Given the description of an element on the screen output the (x, y) to click on. 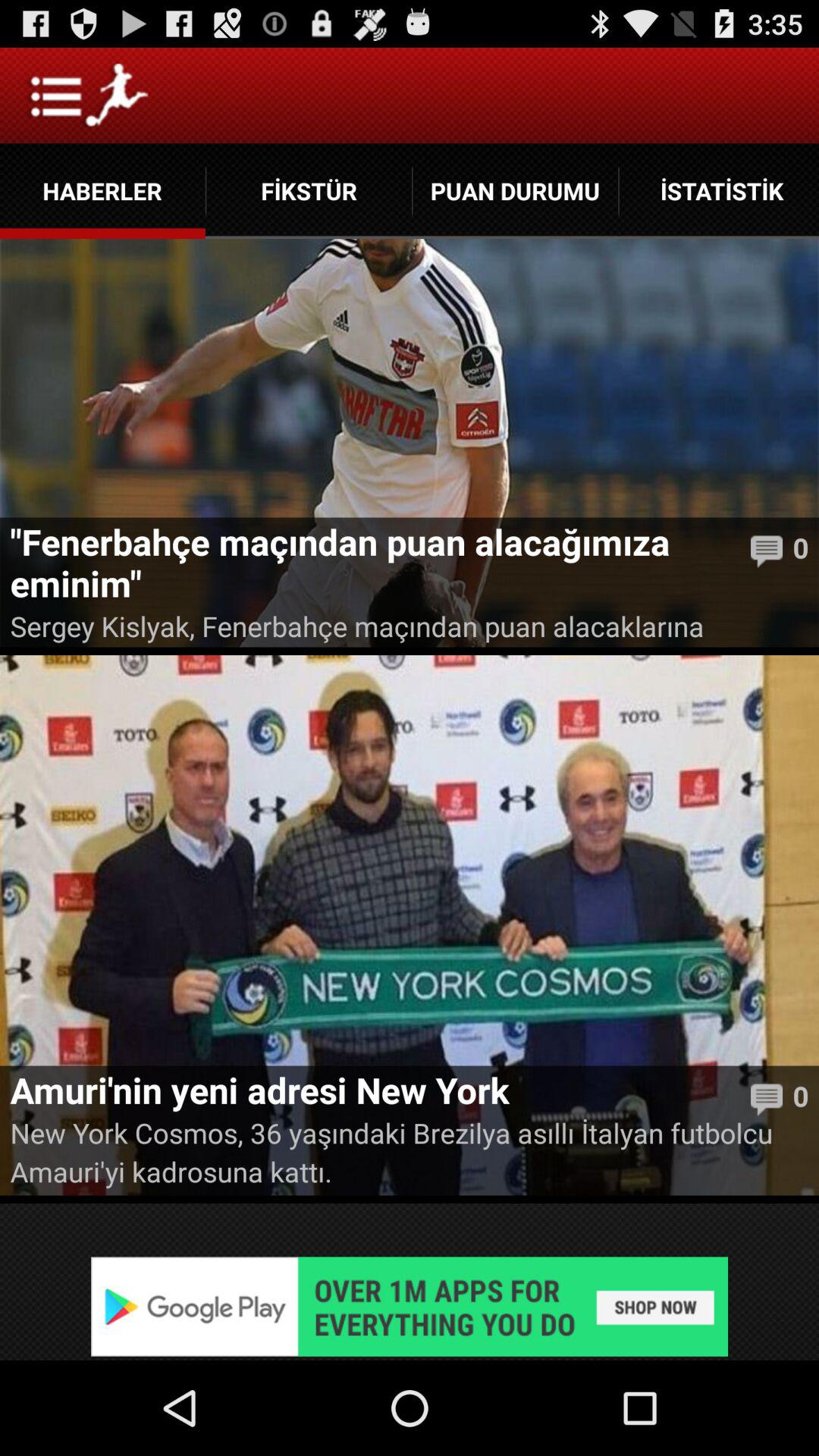
turn on icon next to puan durumu app (719, 190)
